Given the description of an element on the screen output the (x, y) to click on. 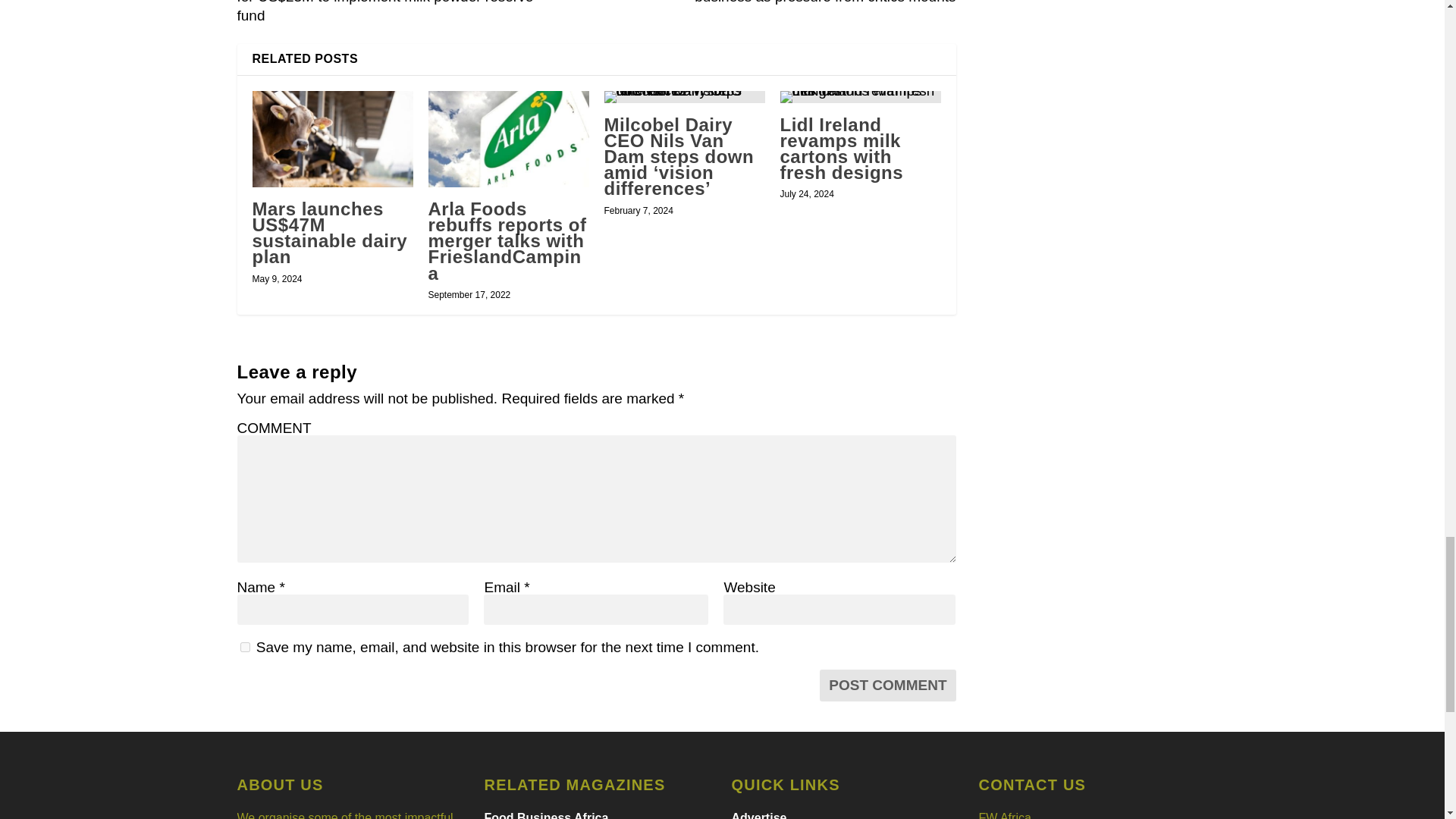
Lidl Ireland revamps milk cartons with fresh designs (859, 96)
Post Comment (887, 685)
Post Comment (887, 685)
Lidl Ireland revamps milk cartons with fresh designs (840, 148)
yes (244, 646)
